Given the description of an element on the screen output the (x, y) to click on. 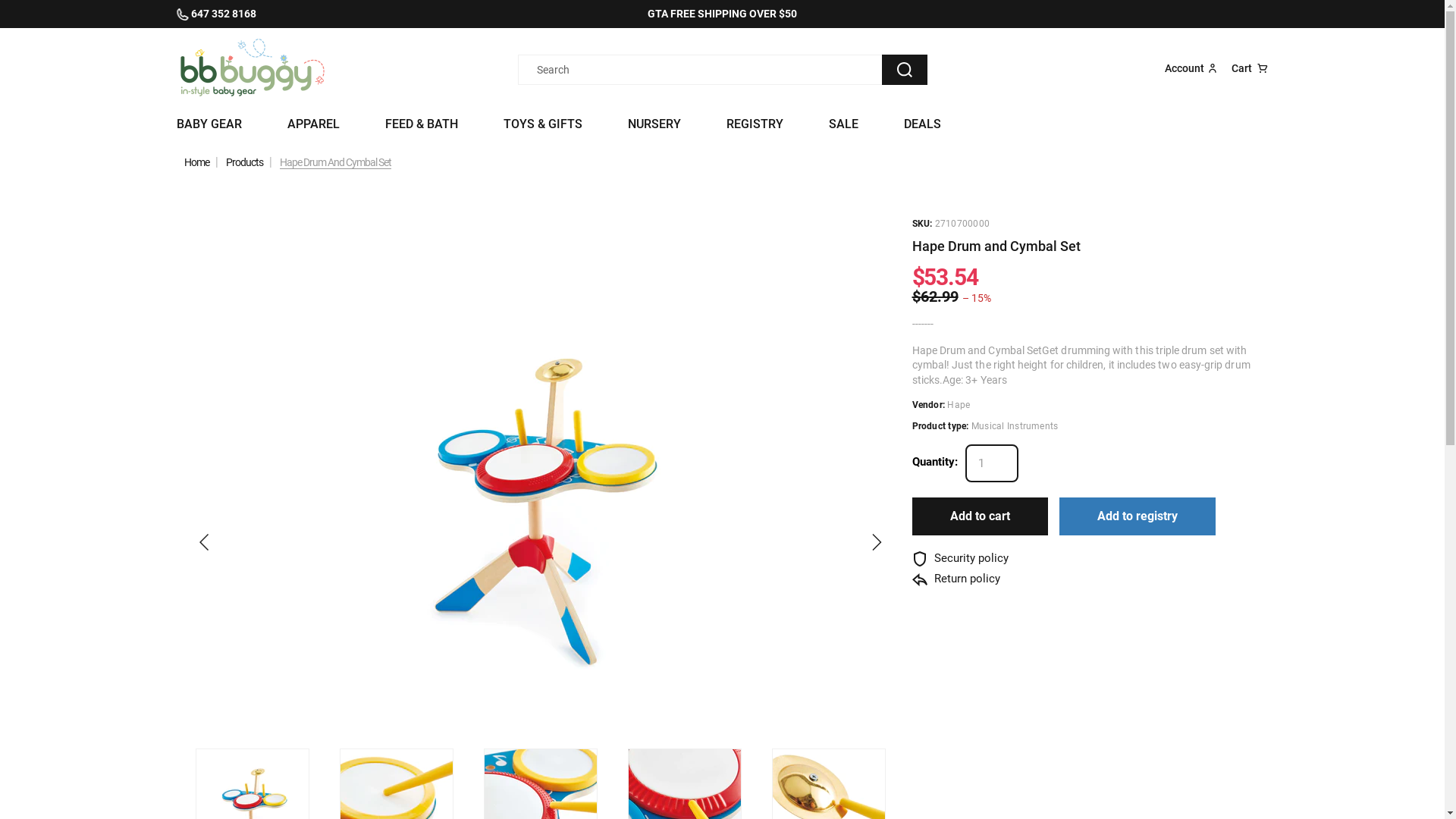
Return policy Element type: text (955, 578)
REGISTRY Element type: text (754, 124)
Products Element type: text (244, 162)
SALE Element type: text (842, 124)
FEED & BATH Element type: text (421, 124)
NURSERY Element type: text (653, 124)
TOYS & GIFTS Element type: text (542, 124)
APPAREL Element type: text (312, 124)
BABY GEAR Element type: text (208, 124)
Home Element type: text (195, 162)
DEALS Element type: text (922, 124)
Security policy Element type: text (959, 558)
647 352 8168 Element type: text (284, 14)
Cart Element type: text (1249, 68)
Add to cart Element type: text (979, 516)
Account Element type: text (1191, 68)
GTA FREE SHIPPING OVER $50 Element type: text (721, 14)
Add to registry Element type: text (1136, 516)
